Given the description of an element on the screen output the (x, y) to click on. 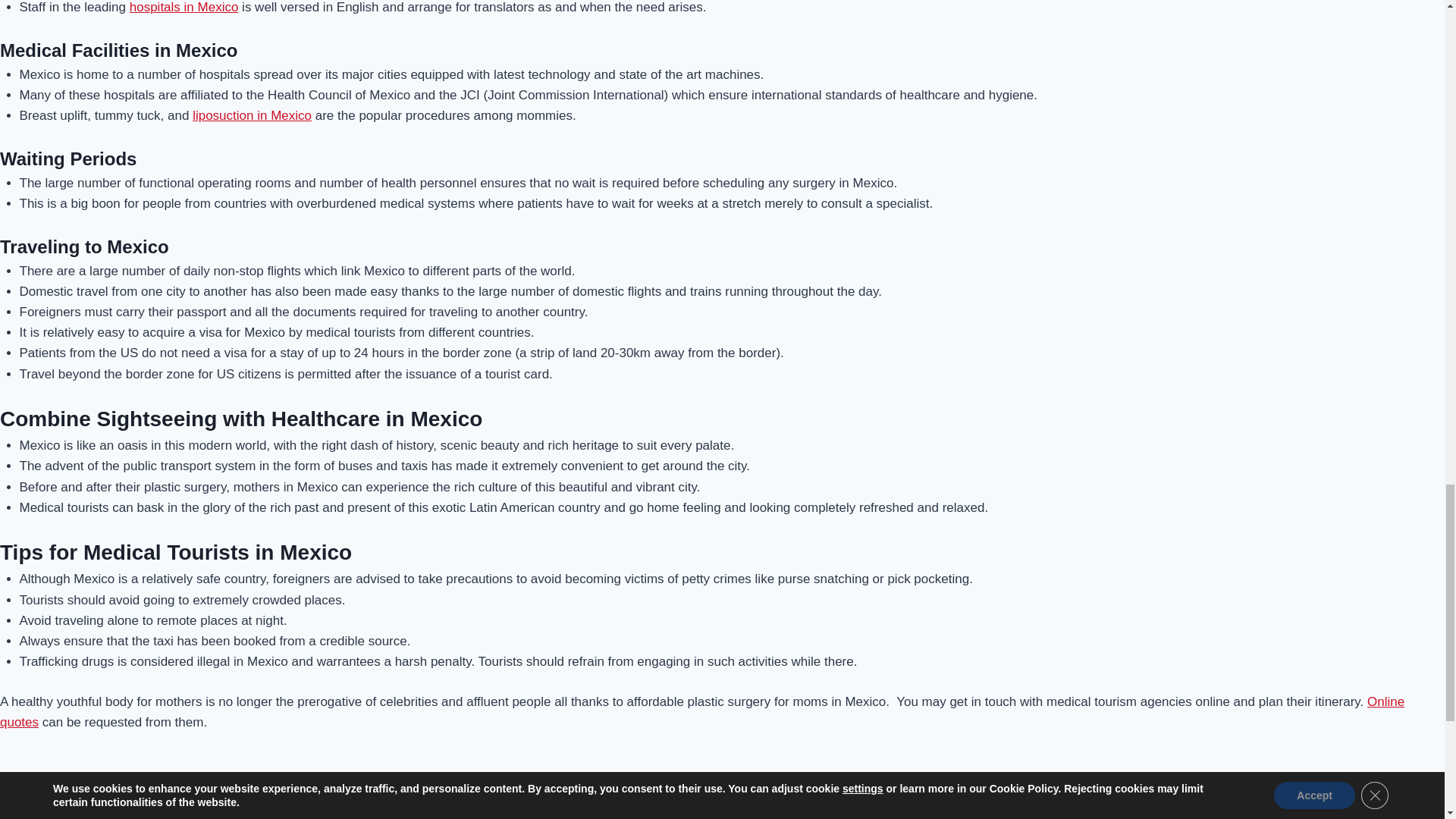
hospitals in Mexico (183, 7)
Hospitals in Mexico (183, 7)
liposuction in Mexico (251, 115)
liposuction in Mexico (251, 115)
Online quotes (702, 711)
Online Quotes (702, 711)
